Given the description of an element on the screen output the (x, y) to click on. 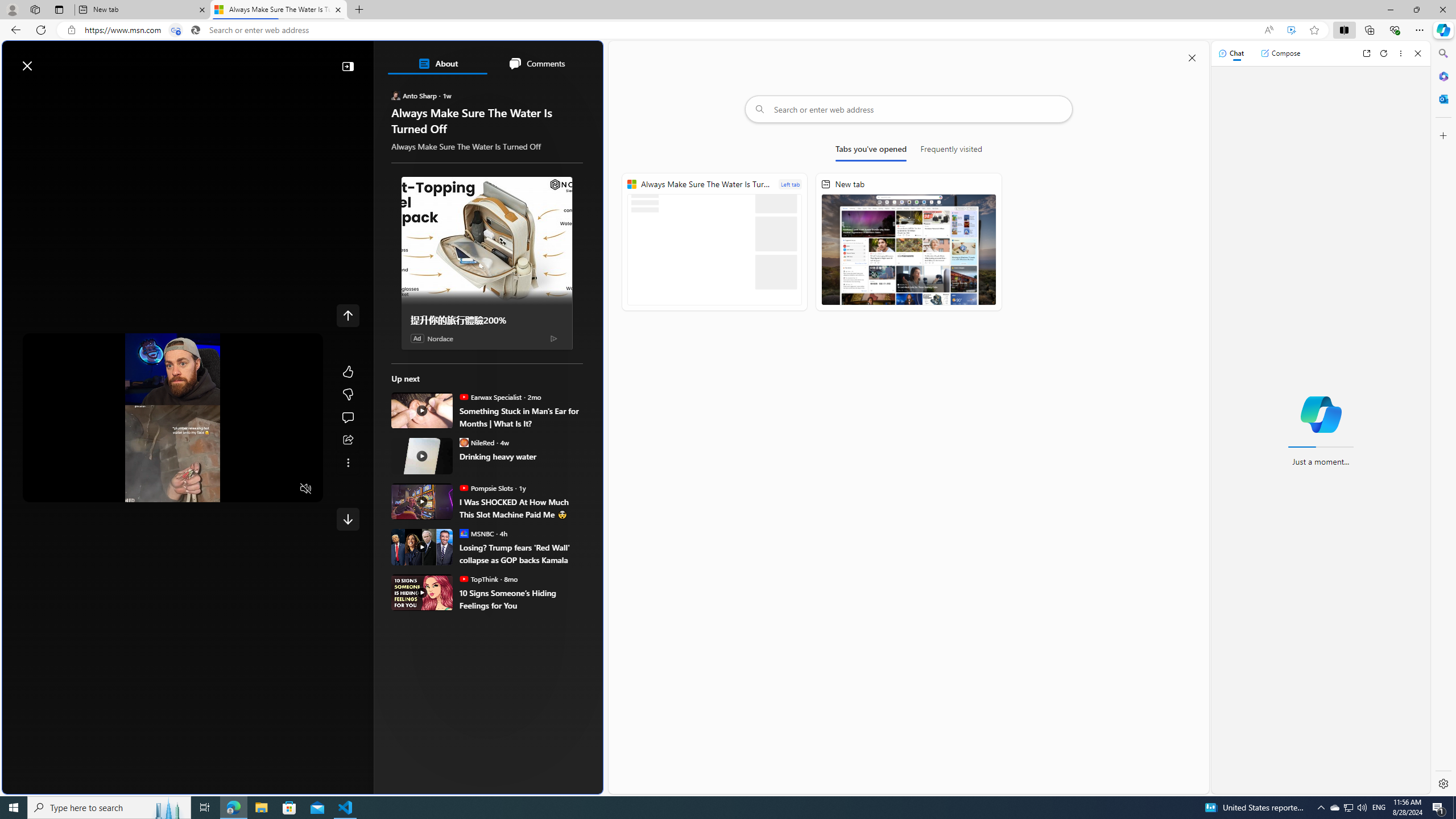
Progress Bar (173, 474)
Open link in new tab (1366, 53)
Customize (1442, 135)
Tabs you've opened (870, 151)
The Associated Press (432, 366)
Class: control icon-only (347, 315)
Class: control (347, 518)
